Given the description of an element on the screen output the (x, y) to click on. 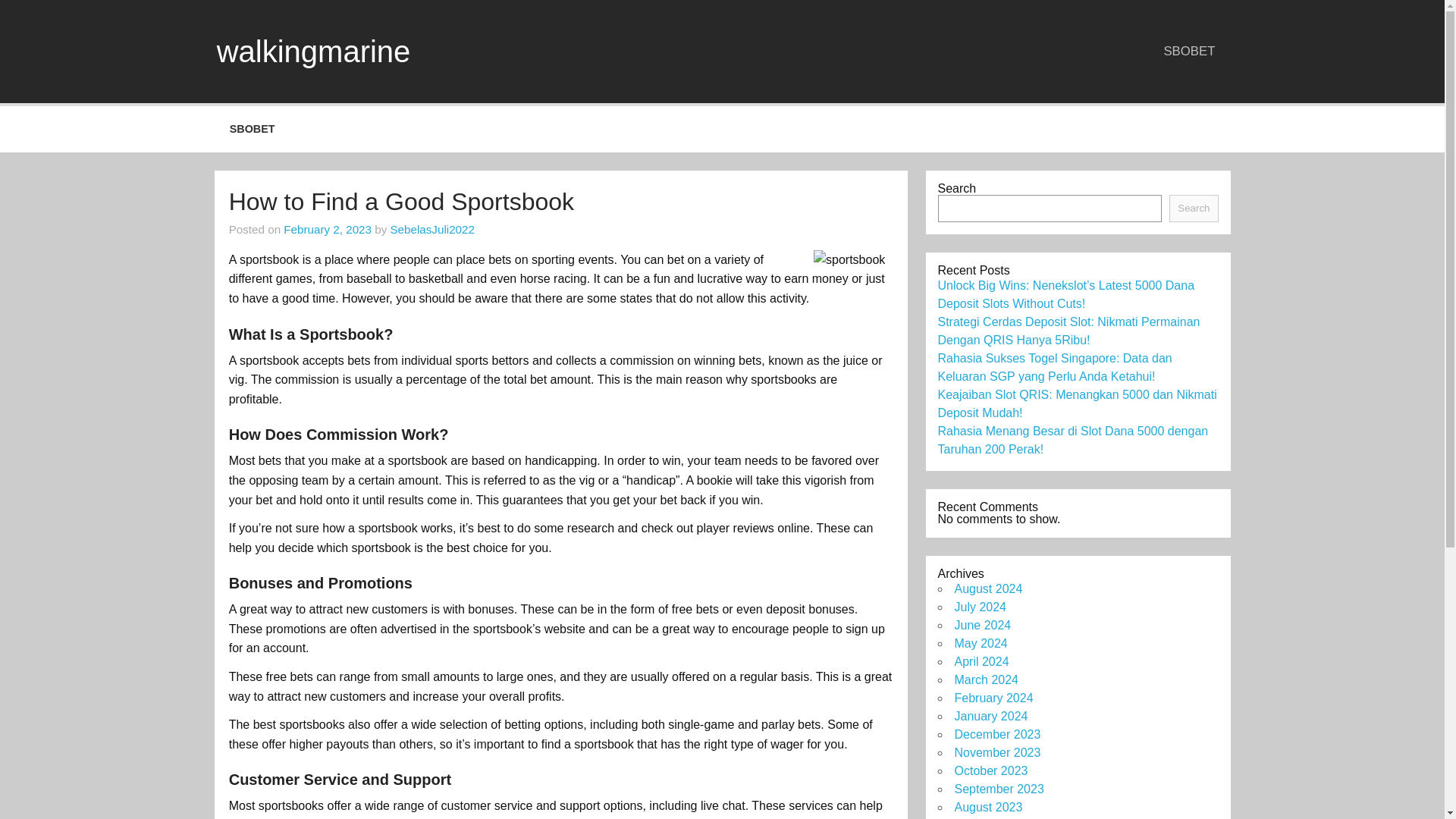
7:40 pm (327, 228)
April 2024 (981, 661)
walkingmarine (313, 51)
May 2024 (980, 643)
February 2024 (992, 697)
September 2023 (998, 788)
August 2023 (987, 807)
SebelasJuli2022 (432, 228)
March 2024 (985, 679)
